Given the description of an element on the screen output the (x, y) to click on. 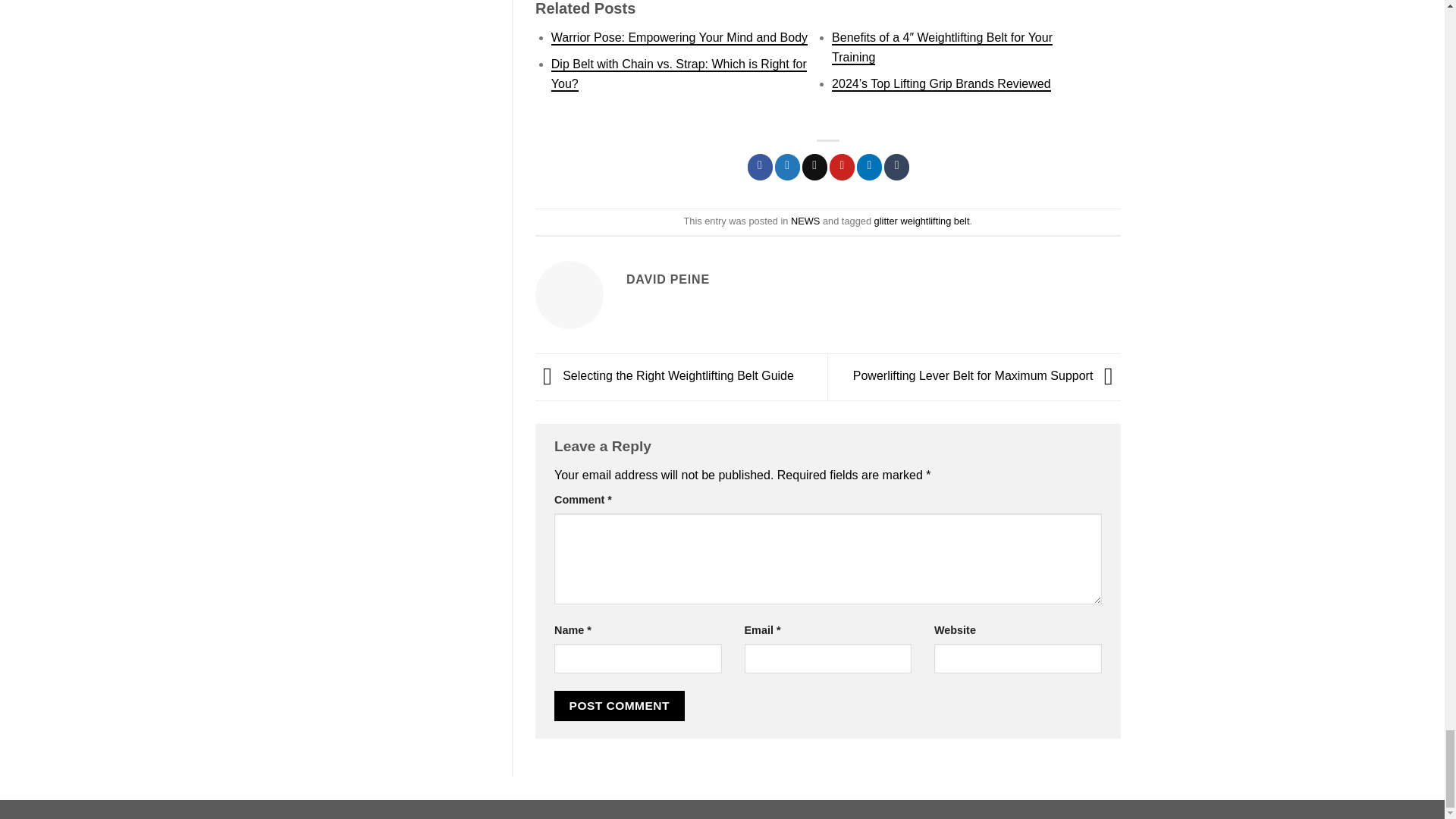
Post Comment (619, 705)
